Given the description of an element on the screen output the (x, y) to click on. 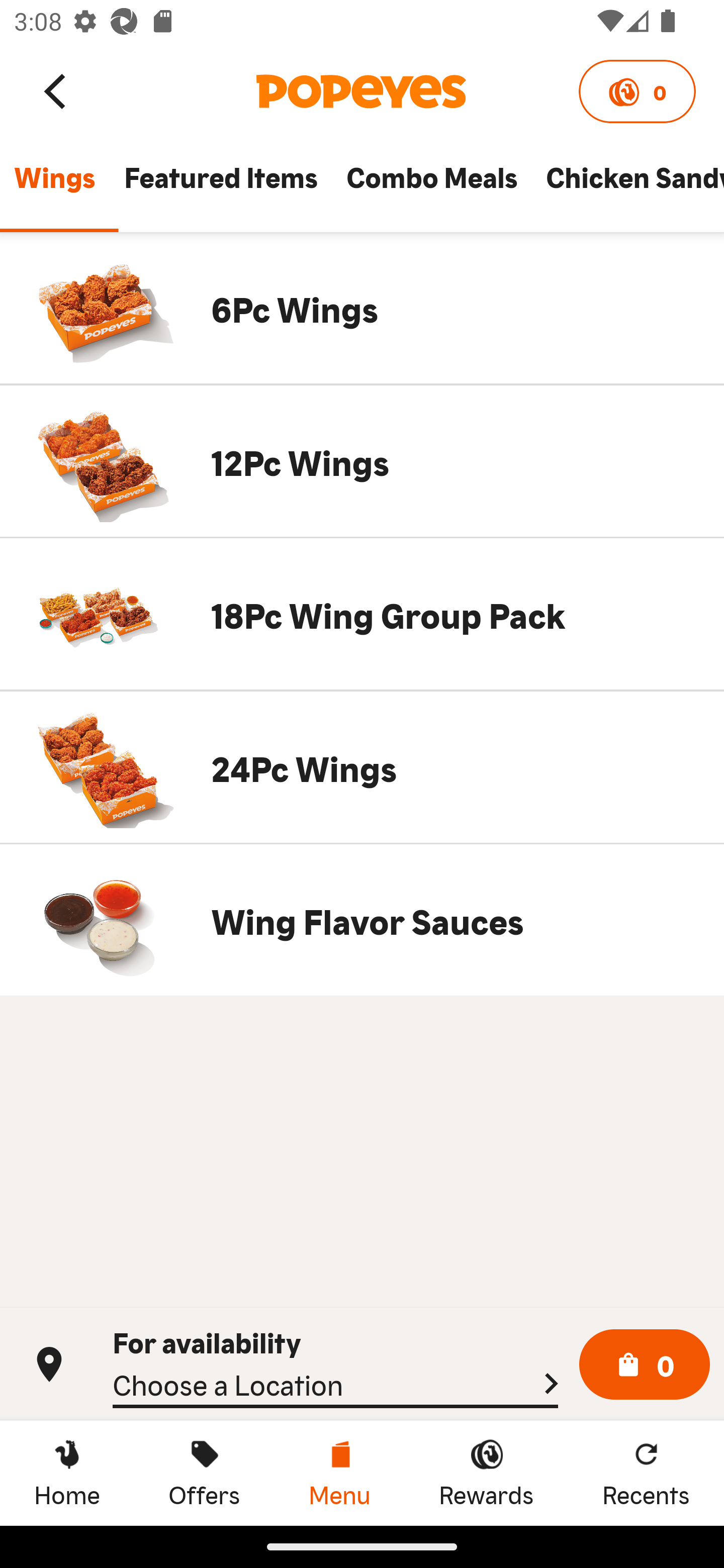
Back (56, 90)
0 Points 0 (636, 91)
Wings (54, 186)
Featured Items (220, 186)
Combo Meals (431, 186)
Chicken Sandwich   (627, 186)
0 Cart total  0 (644, 1364)
Home Home Home (66, 1472)
Offers Offers Offers (203, 1472)
Menu, current page Menu Menu, current page (339, 1472)
Rewards Rewards Rewards (486, 1472)
Recents Recents Recents (646, 1472)
